Given the description of an element on the screen output the (x, y) to click on. 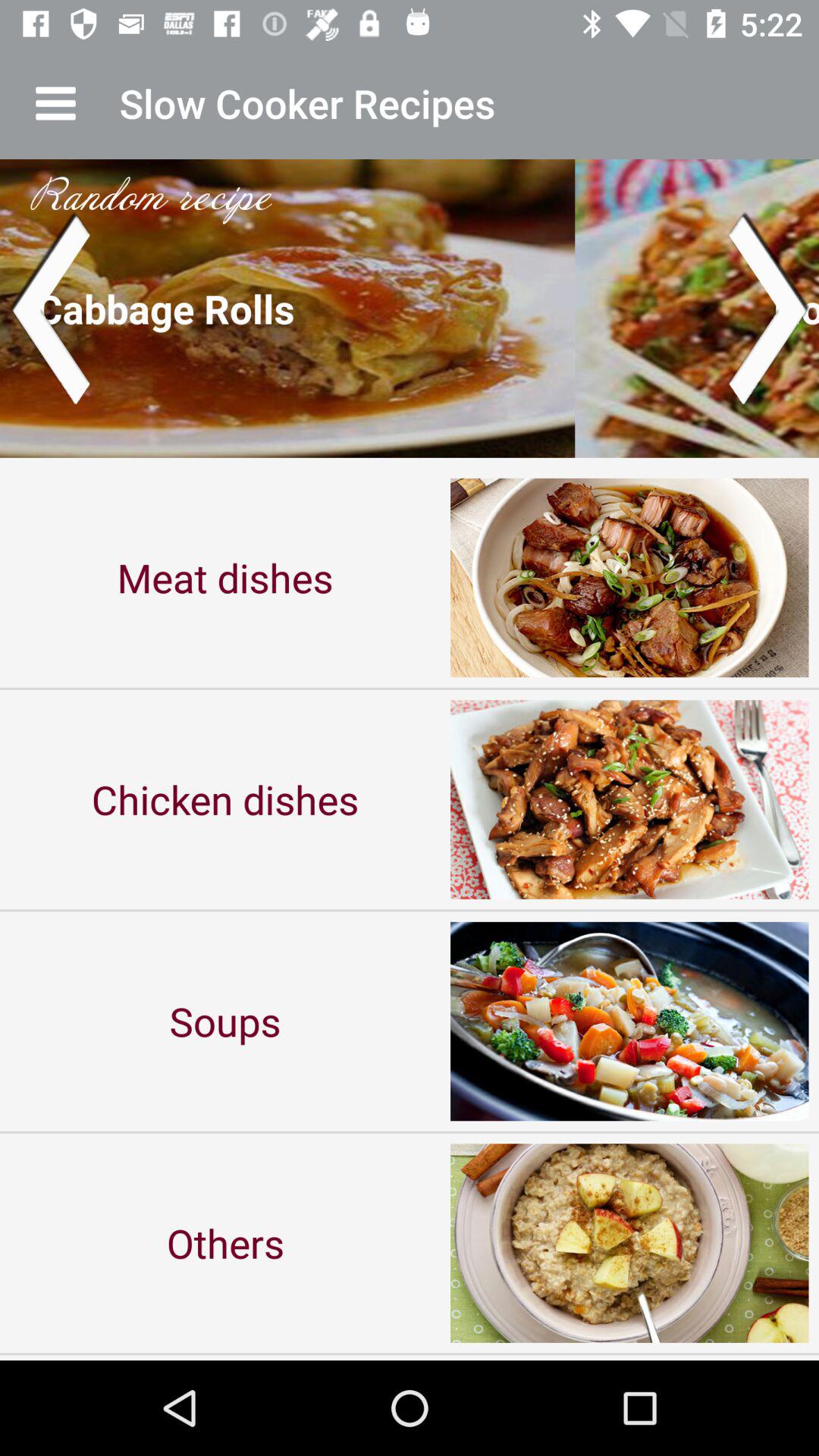
open the meat dishes item (225, 577)
